Given the description of an element on the screen output the (x, y) to click on. 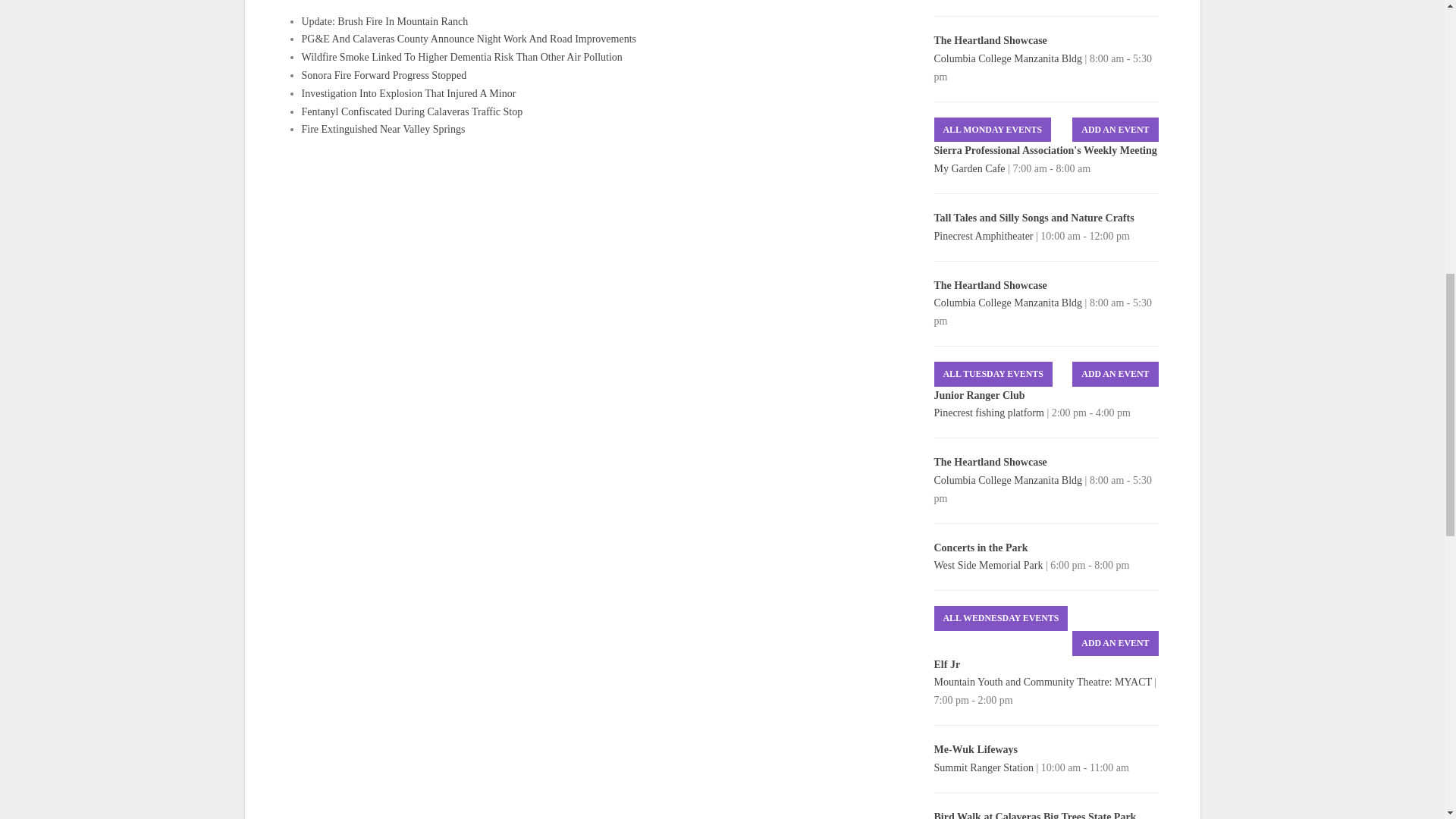
All Wednesday Events (1001, 618)
All Tuesday Events (993, 373)
Add An Event (1114, 643)
Add An Event (1114, 129)
All Monday Events (992, 129)
Add An Event (1114, 373)
